Given the description of an element on the screen output the (x, y) to click on. 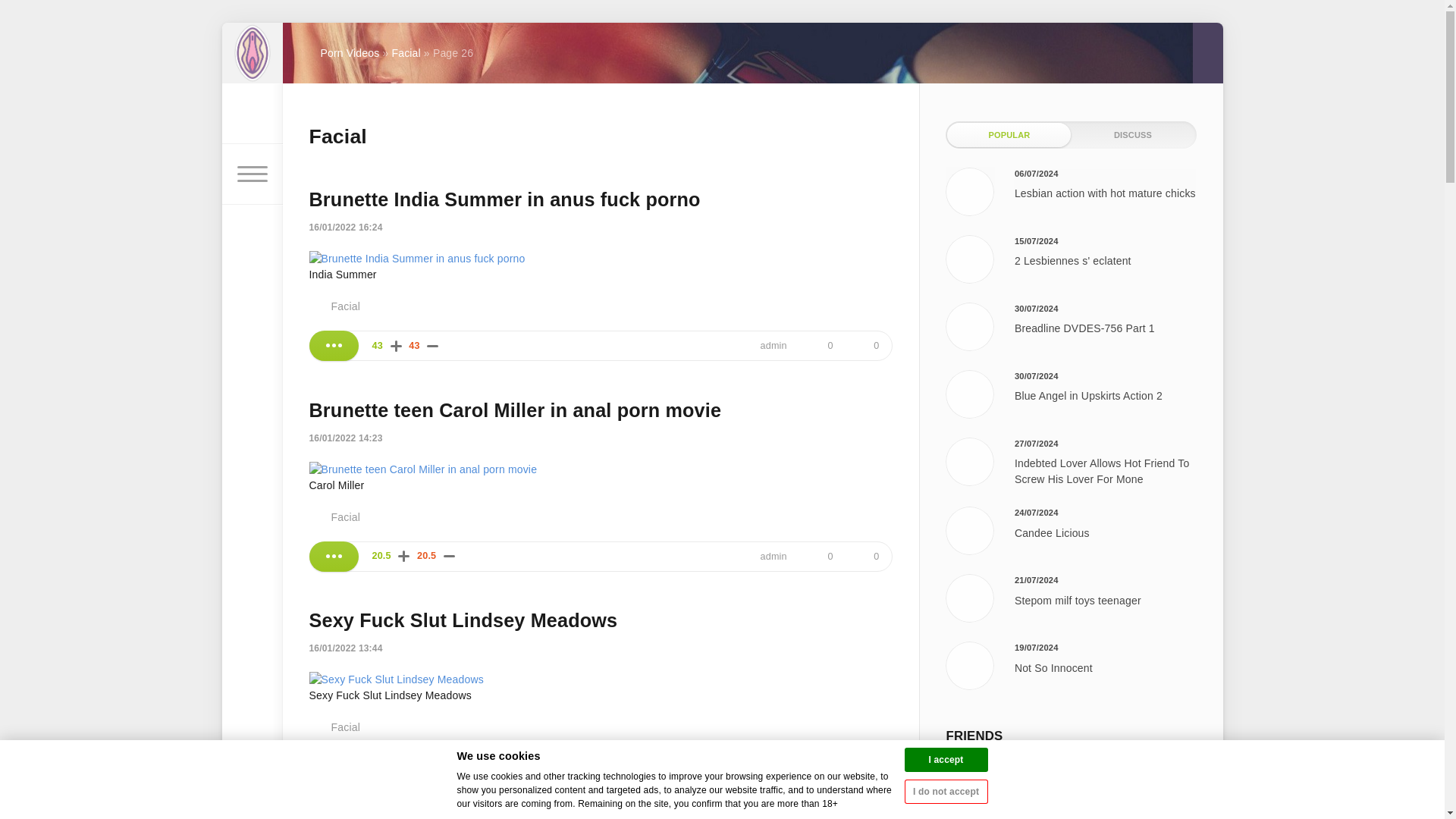
Dislike (432, 345)
Read more: Brunette India Summer in anus fuck porno (333, 345)
Author (767, 345)
Comments: 0 (820, 556)
Author (767, 556)
Views: 0 (866, 345)
Dislike (449, 556)
Views: 0 (866, 556)
Comments: 0 (820, 345)
pornomania.nl (251, 52)
